Given the description of an element on the screen output the (x, y) to click on. 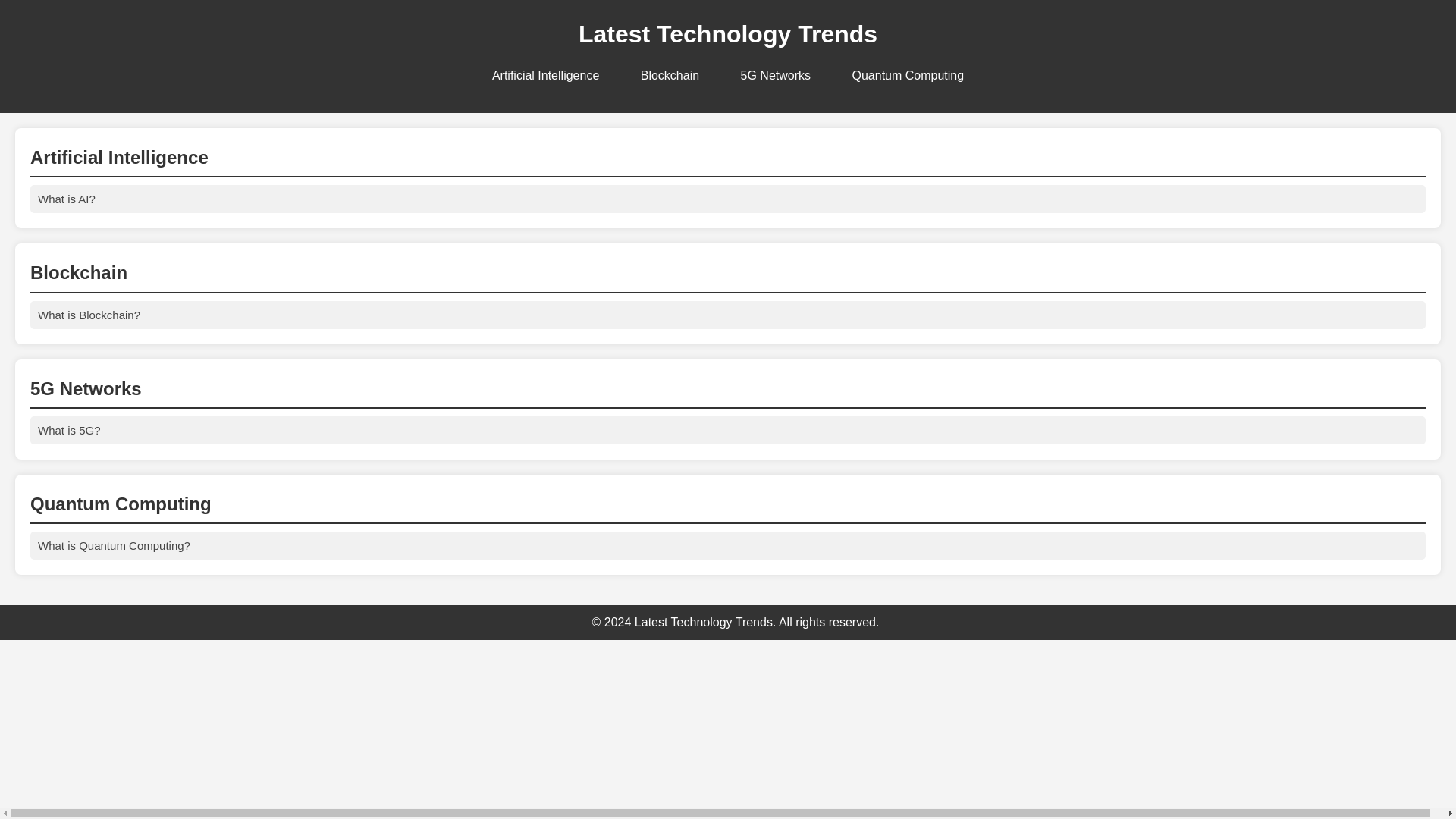
What is Blockchain? (727, 315)
Blockchain (669, 75)
Quantum Computing (907, 75)
What is AI? (727, 198)
Artificial Intelligence (545, 75)
What is 5G? (727, 430)
5G Networks (775, 75)
What is Quantum Computing? (727, 545)
